Given the description of an element on the screen output the (x, y) to click on. 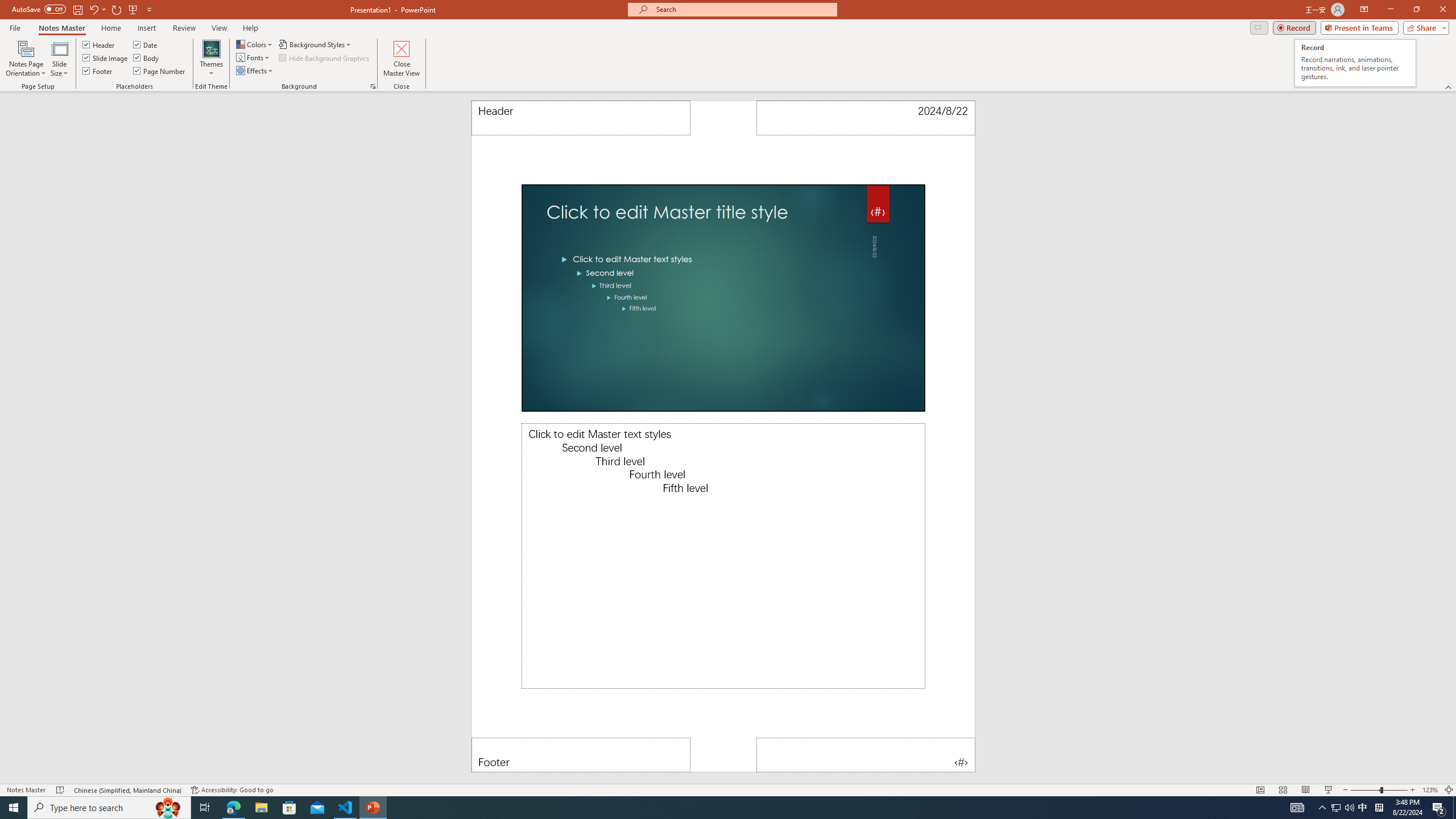
Footer (98, 69)
Header (580, 117)
Header (98, 44)
Background Styles (315, 44)
Slide Image (105, 56)
Hide Background Graphics (324, 56)
Zoom 123% (1430, 790)
